Given the description of an element on the screen output the (x, y) to click on. 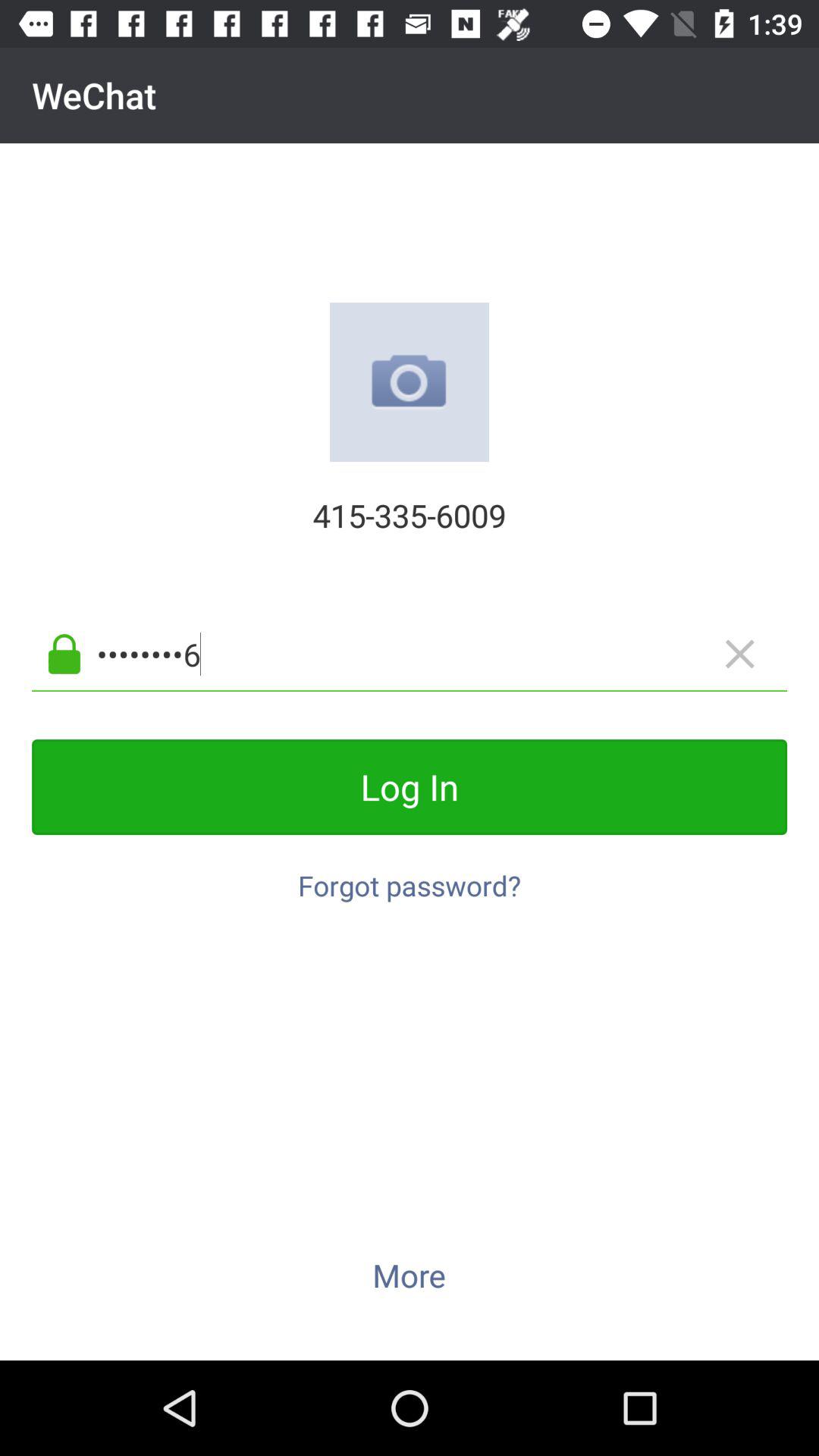
select log in (409, 786)
